Given the description of an element on the screen output the (x, y) to click on. 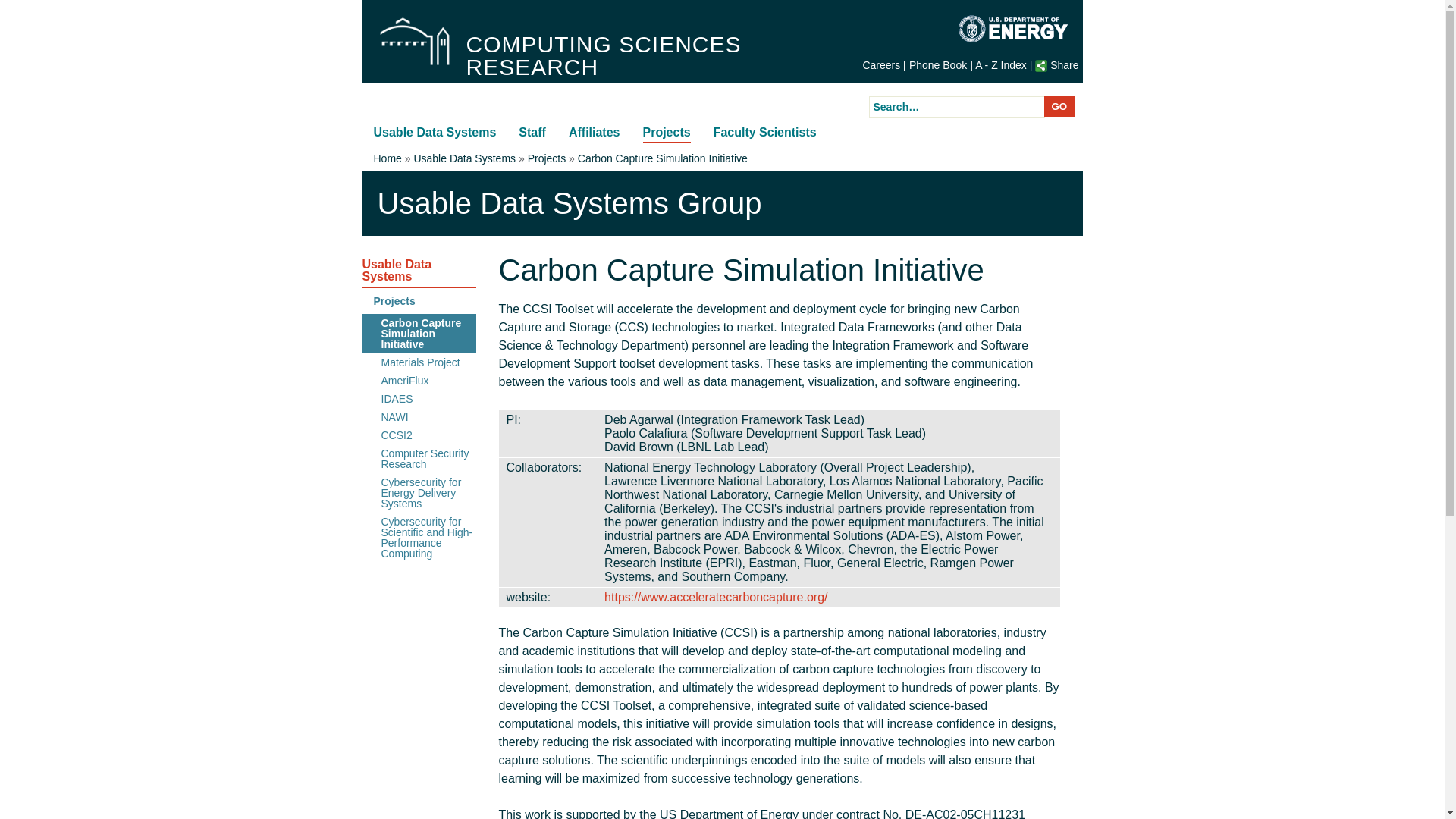
Home (414, 41)
Careers (880, 64)
Affiliates (594, 131)
SCIENTIFIC DATA DIVISION (552, 86)
Home (657, 55)
Phone Book (937, 64)
Go (1058, 106)
Go (1058, 106)
COMPUTING SCIENCES RESEARCH (657, 55)
Share (1056, 64)
Staff (532, 131)
Usable Data Systems (552, 86)
A - Z Index (1000, 64)
Usable Data Systems (434, 131)
